Given the description of an element on the screen output the (x, y) to click on. 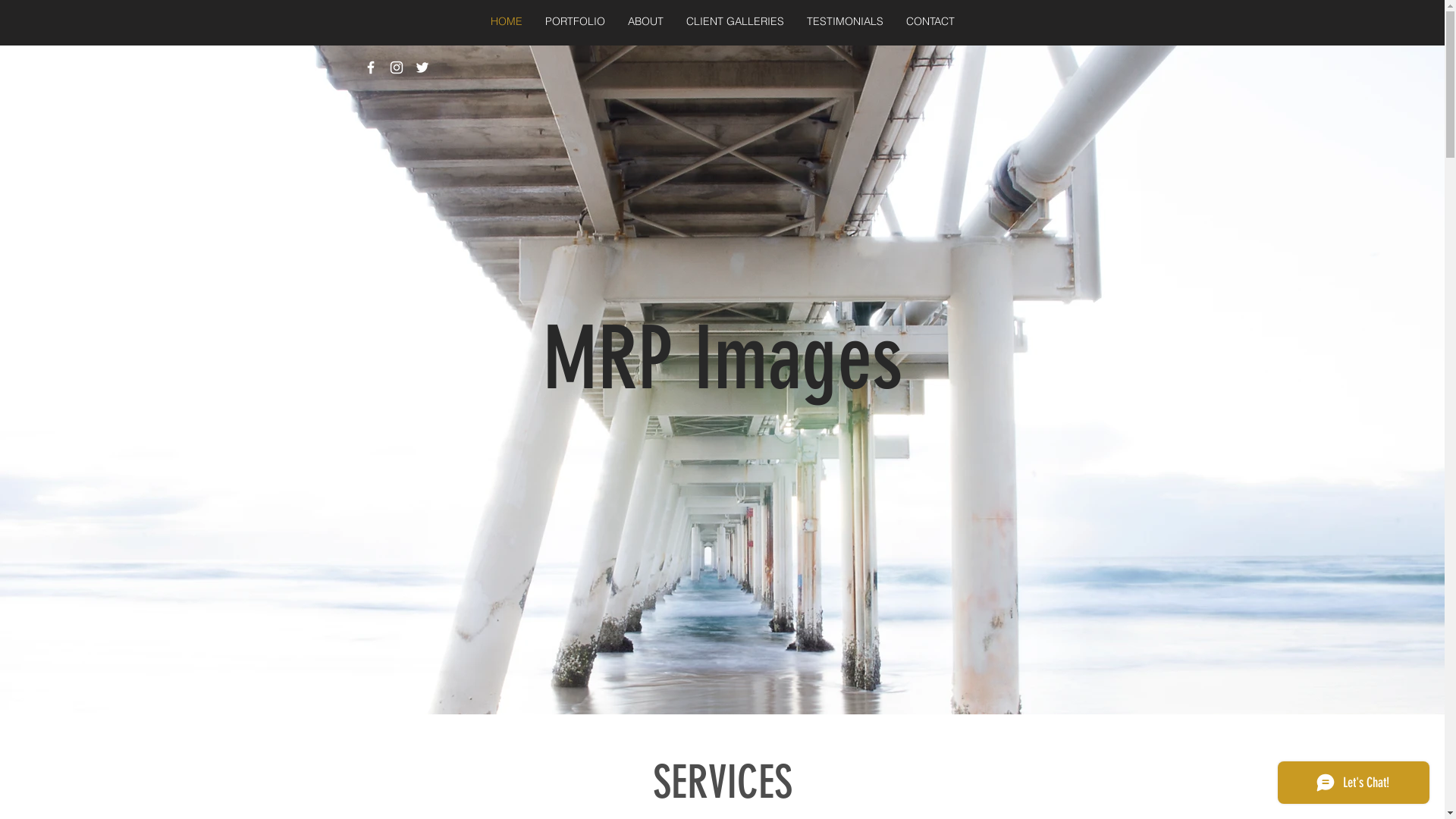
CONTACT Element type: text (930, 21)
HOME Element type: text (506, 21)
CLIENT GALLERIES Element type: text (734, 21)
SERVICES Element type: text (721, 782)
ABOUT Element type: text (645, 21)
PORTFOLIO Element type: text (574, 21)
TESTIMONIALS Element type: text (844, 21)
